Given the description of an element on the screen output the (x, y) to click on. 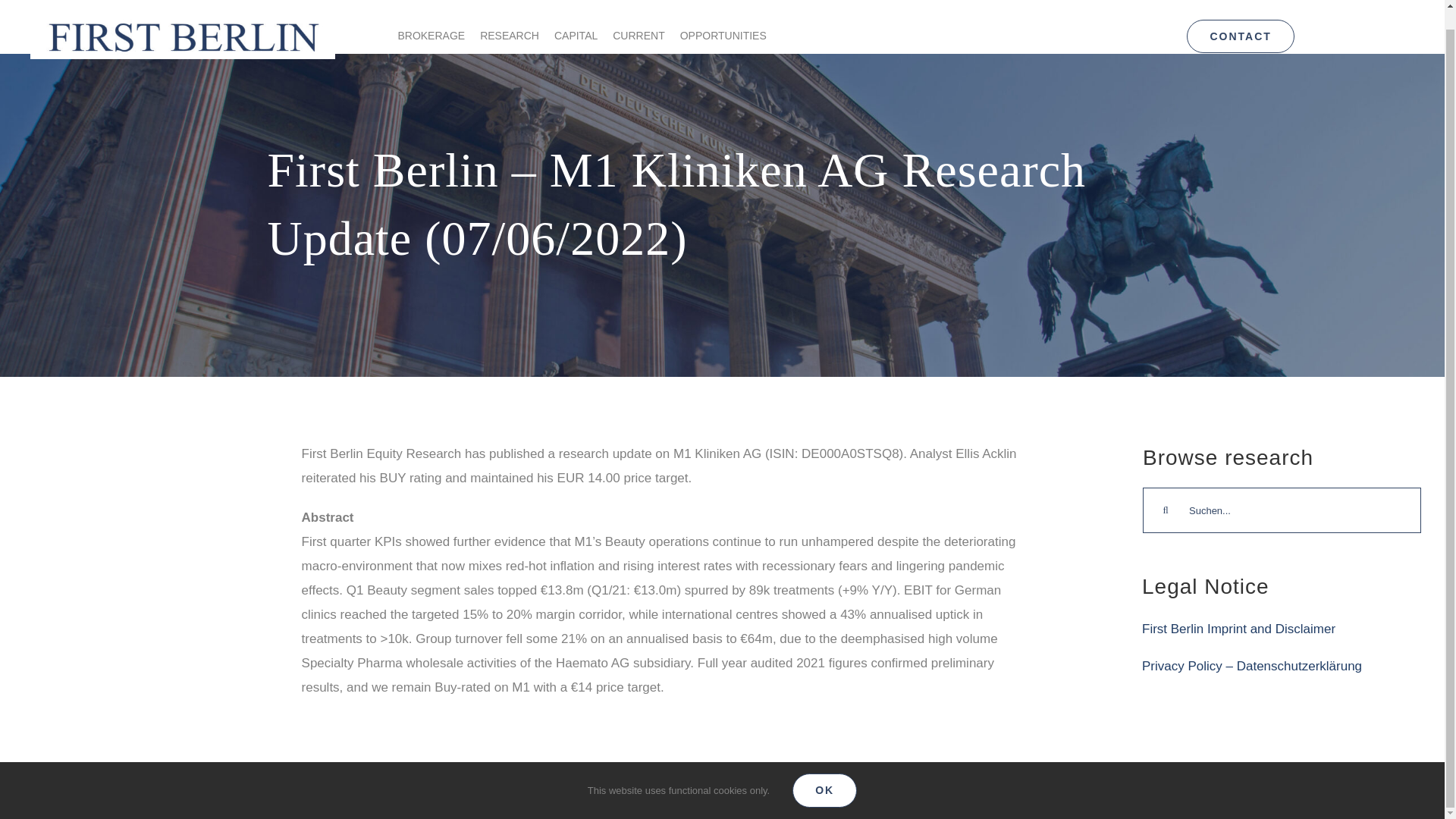
BROKERAGE (430, 27)
CURRENT (638, 27)
CAPITAL (576, 27)
OK (824, 771)
First Berlin Imprint and Disclaimer (1238, 628)
CONTACT (1240, 17)
RESEARCH (509, 27)
OPPORTUNITIES (723, 27)
